Given the description of an element on the screen output the (x, y) to click on. 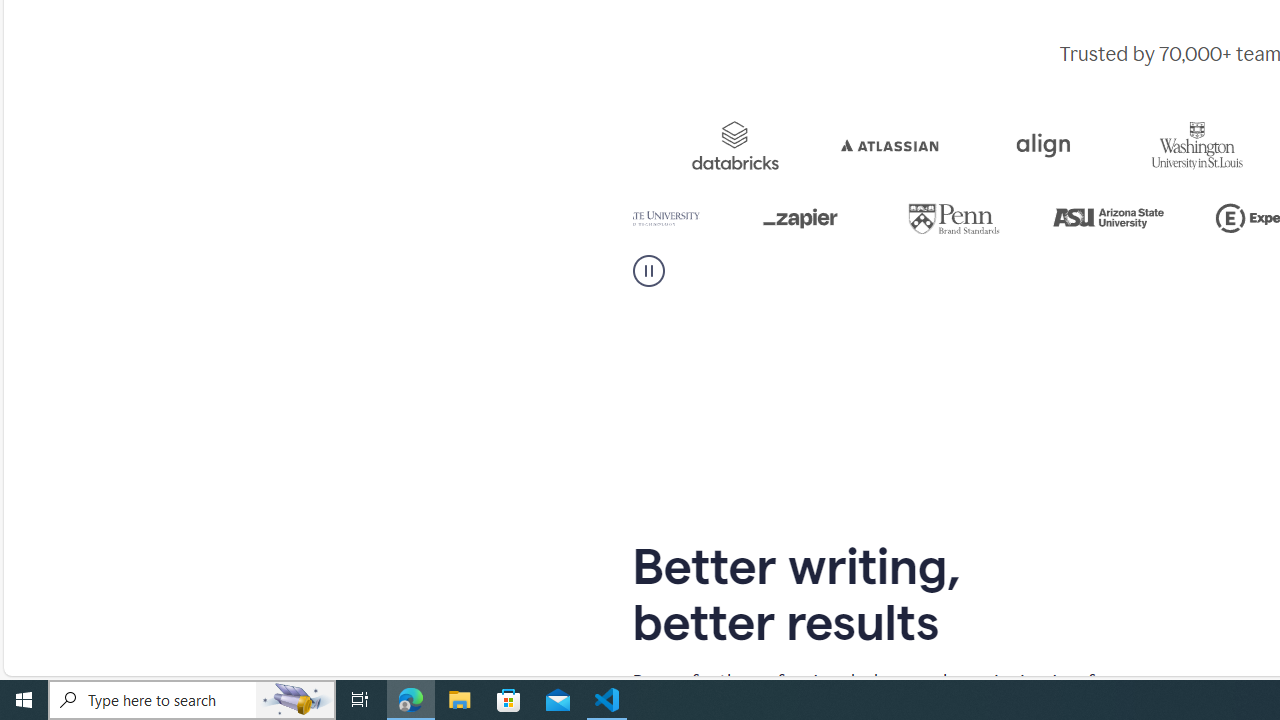
Databricks (957, 145)
Upwork (713, 218)
Zoom (649, 145)
Atlassian (1127, 145)
Iowa State University (868, 218)
Expedia (818, 145)
University of Pennsylvania (1176, 218)
Zapier (1037, 218)
Pause (648, 270)
